Given the description of an element on the screen output the (x, y) to click on. 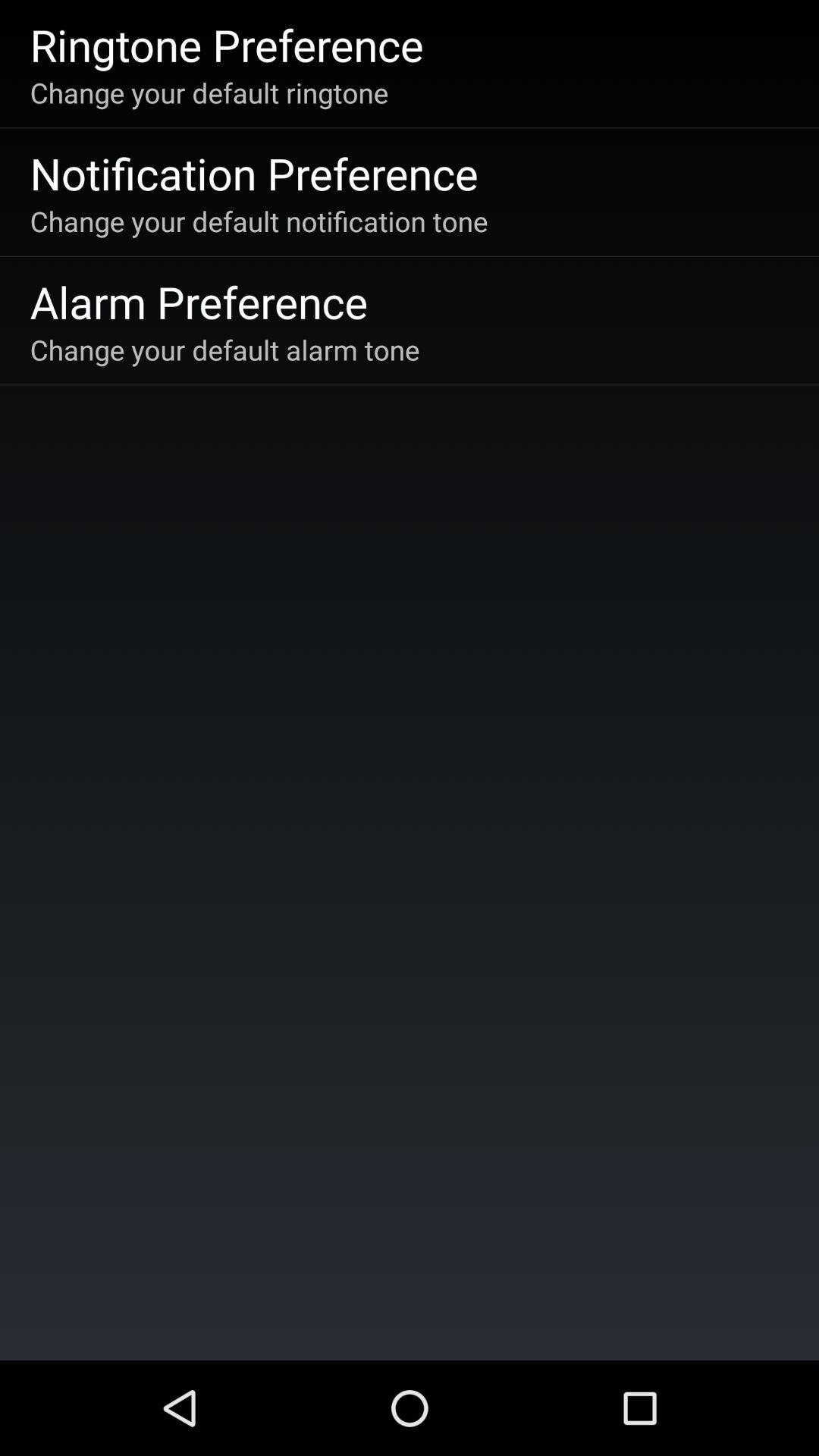
choose the item below change your default icon (254, 172)
